Given the description of an element on the screen output the (x, y) to click on. 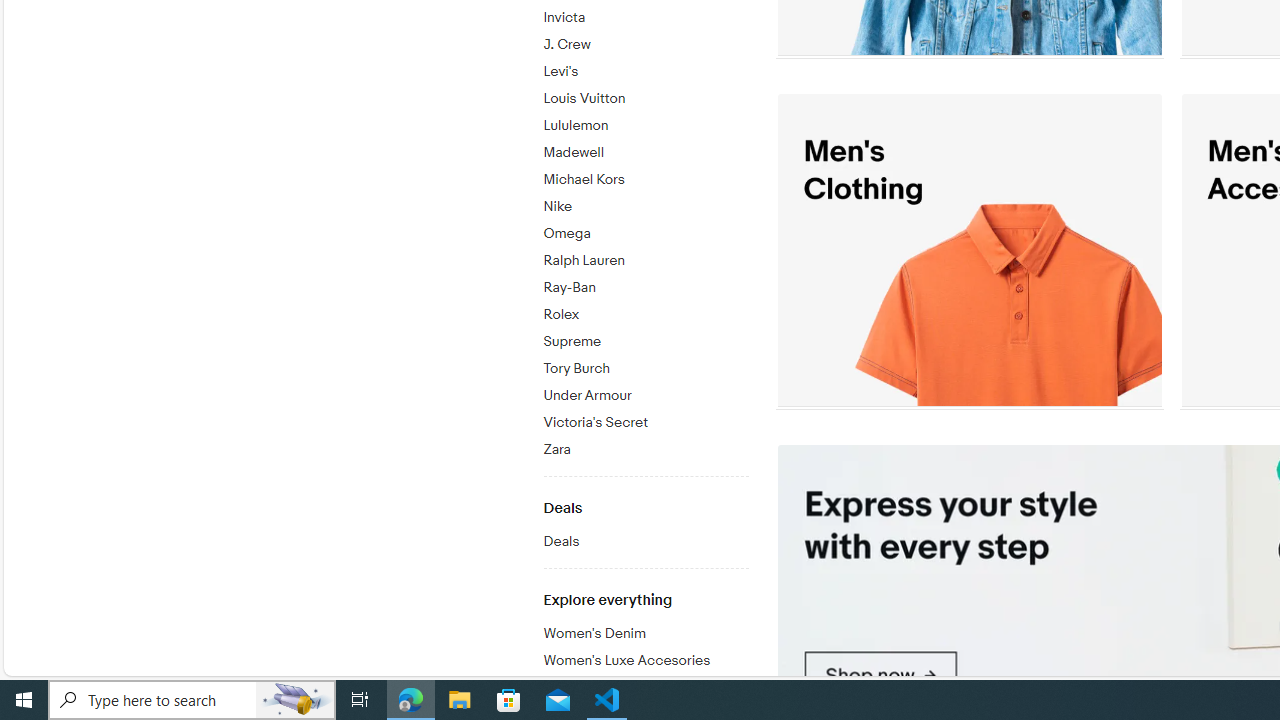
Women's Luxe Accesories (645, 661)
Ralph Lauren (645, 257)
Victoria's Secret (645, 422)
Lululemon (645, 122)
Levi's (645, 68)
Under Armour (645, 392)
Louis Vuitton (645, 95)
Nike (645, 203)
Victoria's Secret (645, 419)
Omega (645, 234)
Ralph Lauren (645, 260)
Levi's (645, 72)
Omega (645, 230)
Invicta (645, 14)
Under Armour (645, 396)
